Given the description of an element on the screen output the (x, y) to click on. 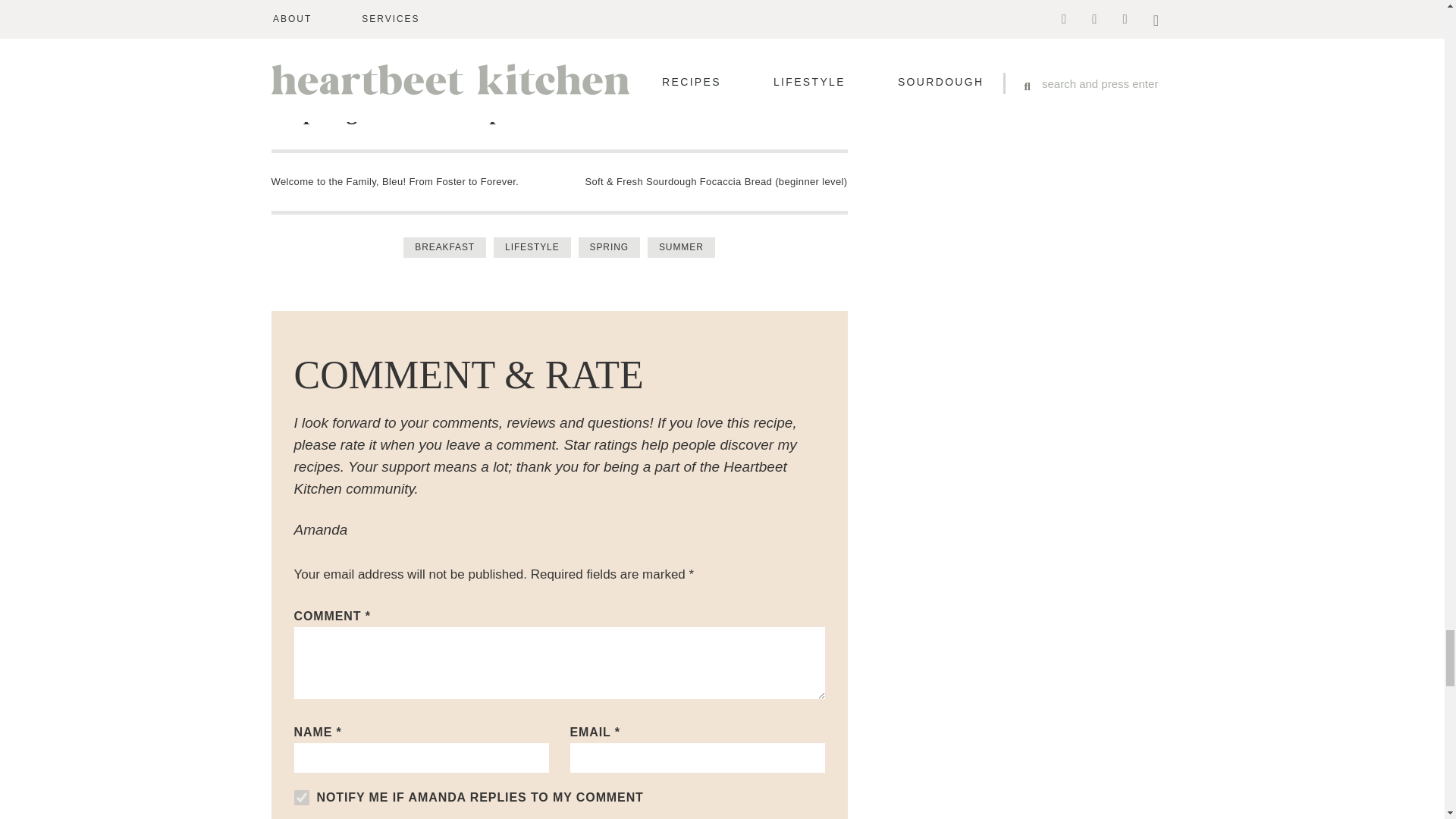
on (301, 797)
